Given the description of an element on the screen output the (x, y) to click on. 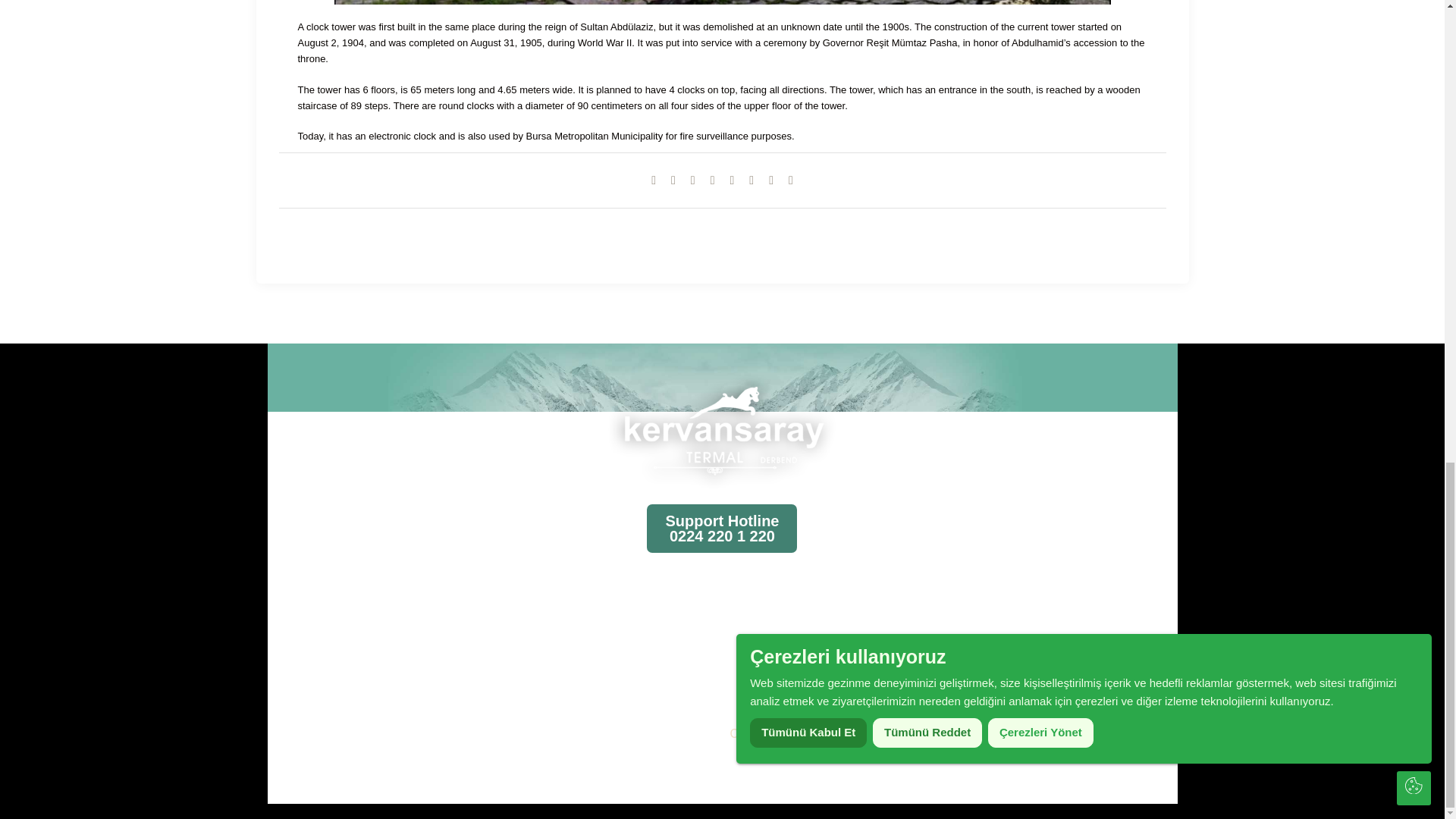
Pinterest (712, 180)
Mail to friend (731, 180)
Our Rooms (380, 626)
About Us (380, 652)
Honeymoon (600, 626)
Bursa City Guide (380, 678)
linkedin (751, 180)
VK (692, 180)
Facebook (672, 180)
Reservation (380, 703)
